Given the description of an element on the screen output the (x, y) to click on. 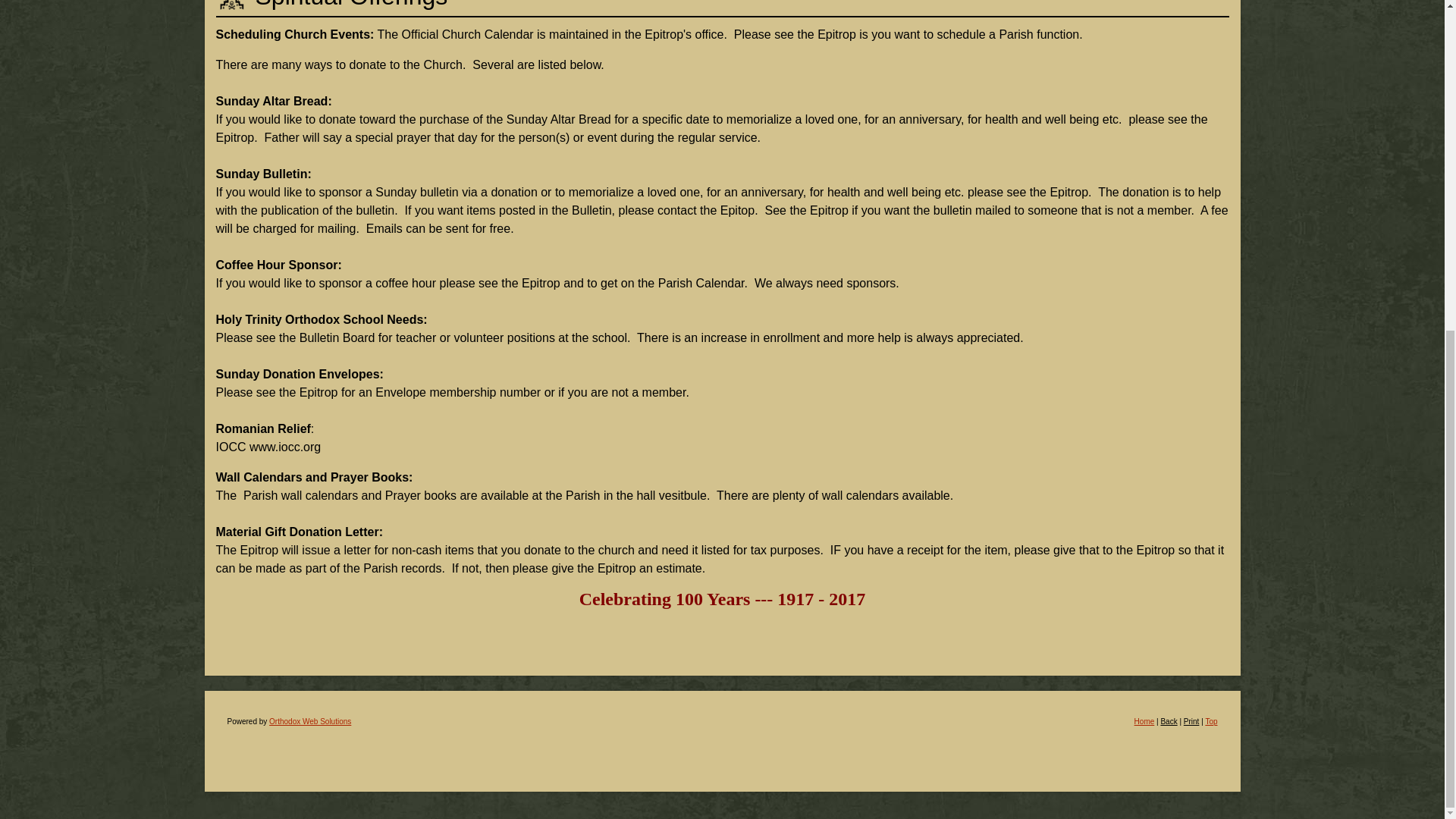
Top (1211, 721)
Home (1144, 721)
Print (1191, 721)
Orthodox Web Solutions (309, 721)
Back (1168, 721)
